Given the description of an element on the screen output the (x, y) to click on. 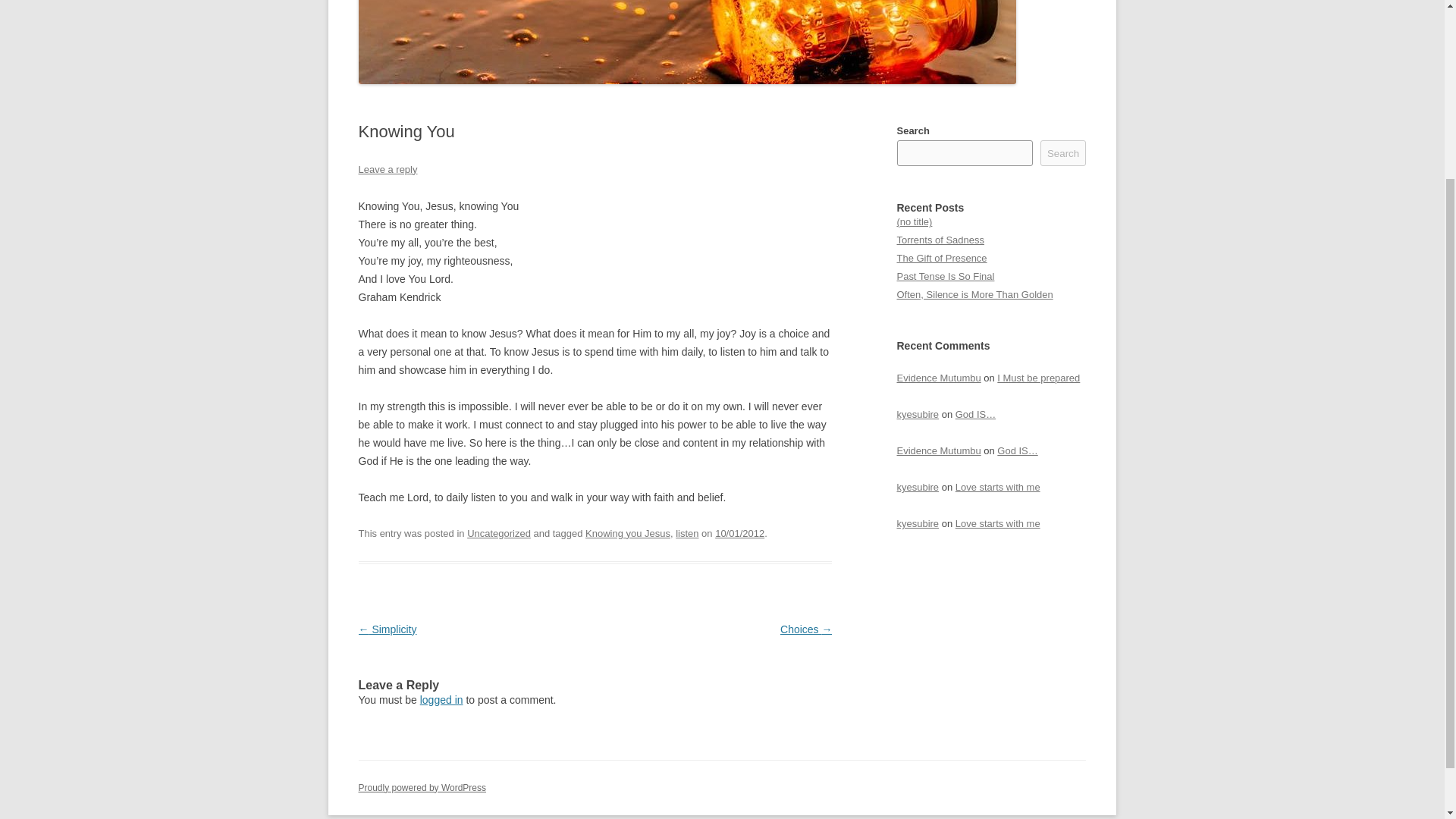
Often, Silence is More Than Golden (974, 294)
Love starts with me (998, 487)
10:08 PM (739, 532)
Uncategorized (499, 532)
kyesubire (917, 487)
I Must be prepared (1038, 378)
Search (1063, 153)
Torrents of Sadness (940, 239)
Evidence Mutumbu (937, 450)
listen (686, 532)
